Given the description of an element on the screen output the (x, y) to click on. 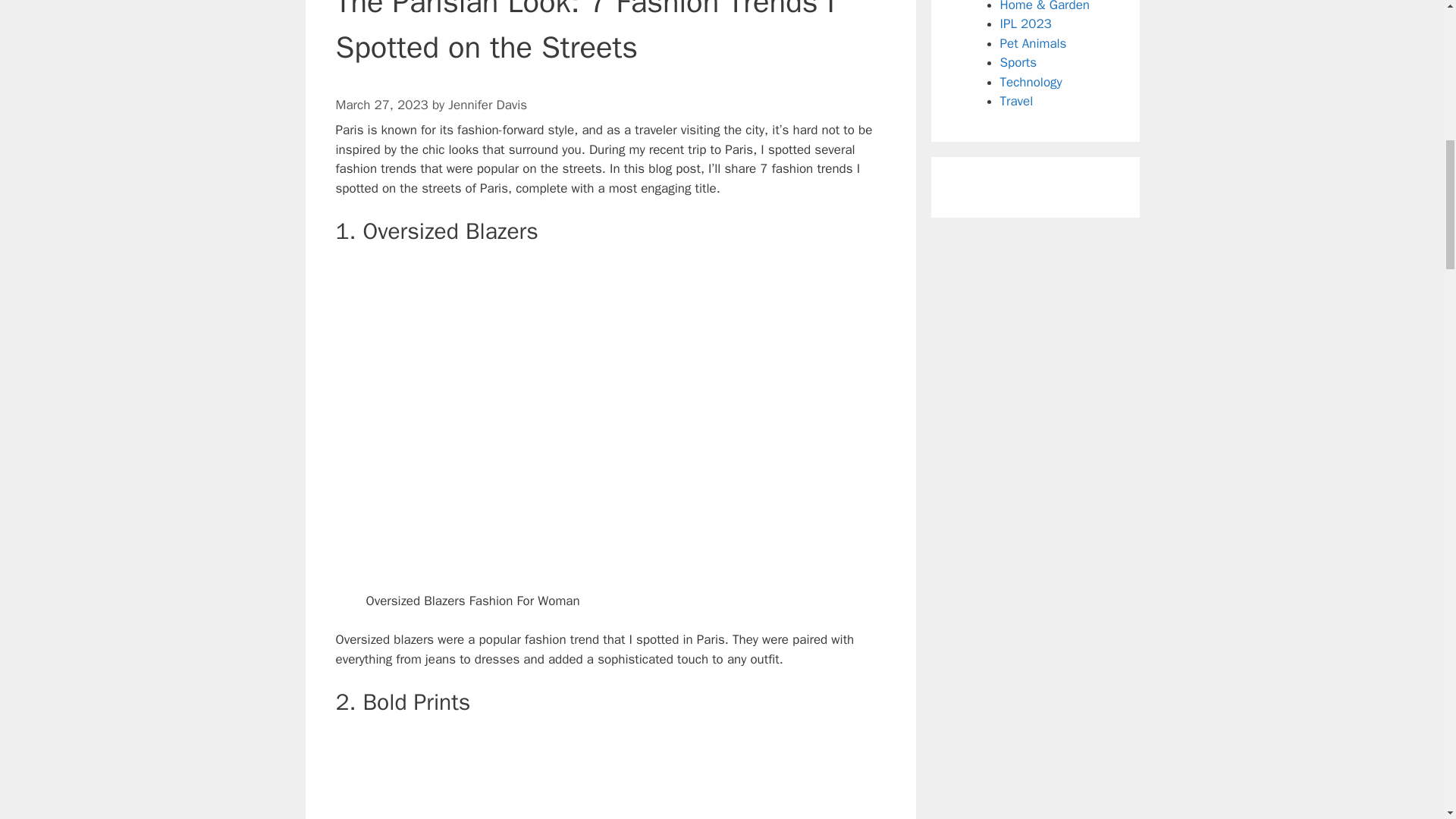
Sports (1017, 62)
Pet Animals (1031, 42)
Technology (1029, 82)
Travel (1015, 100)
Jennifer Davis (487, 105)
IPL 2023 (1024, 23)
View all posts by Jennifer Davis (487, 105)
